Given the description of an element on the screen output the (x, y) to click on. 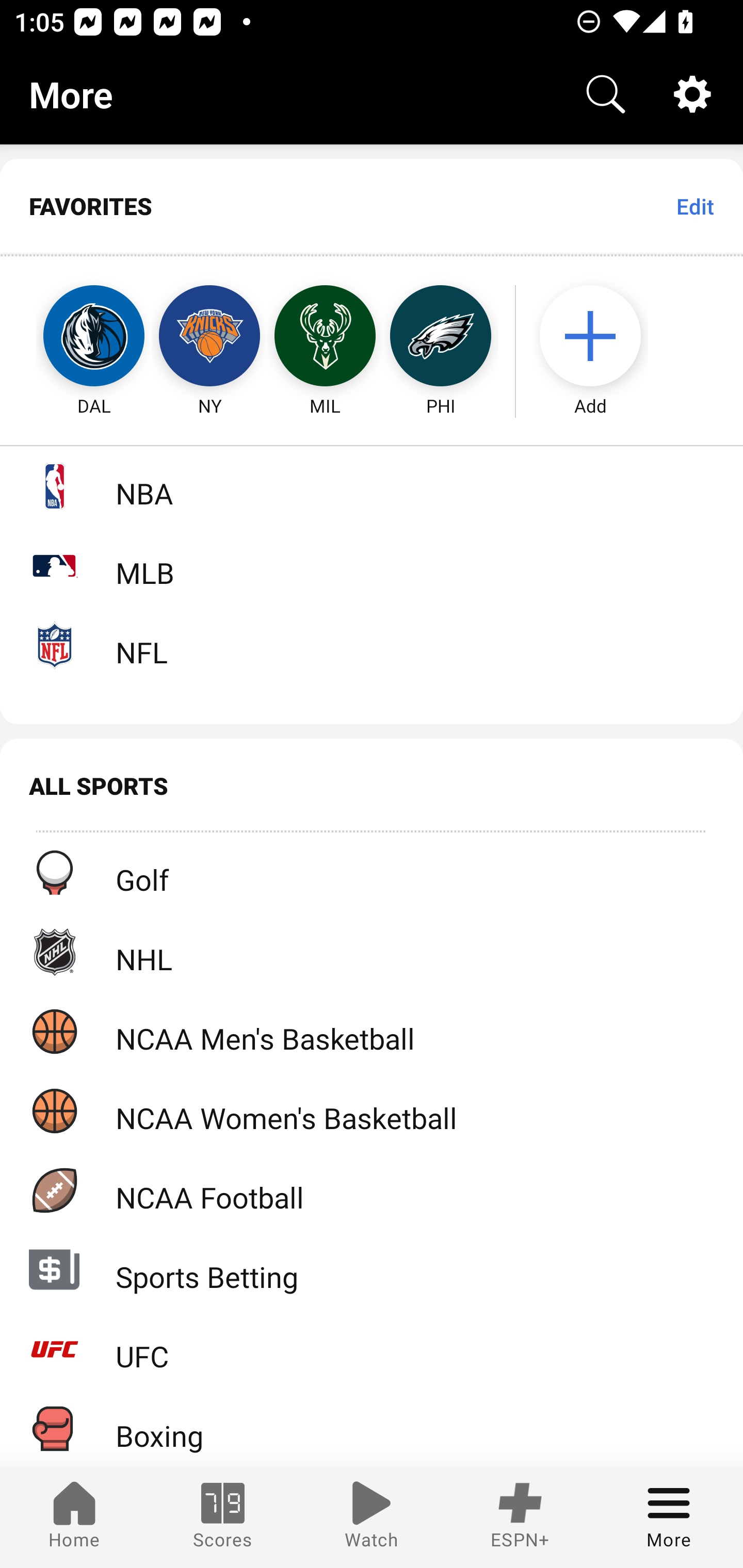
Search (605, 93)
Settings (692, 93)
Edit (695, 205)
DAL Dallas Mavericks (75, 336)
NY New York Knicks (209, 336)
MIL Milwaukee Bucks (324, 336)
PHI Philadelphia Eagles (440, 336)
 Add (599, 336)
NBA (371, 485)
MLB (371, 565)
NFL (371, 645)
Golf (371, 872)
NHL (371, 951)
NCAA Men's Basketball (371, 1030)
NCAA Women's Basketball (371, 1110)
NCAA Football (371, 1189)
Sports Betting (371, 1269)
UFC (371, 1349)
Boxing (371, 1428)
Home (74, 1517)
Scores (222, 1517)
Watch (371, 1517)
ESPN+ (519, 1517)
